Given the description of an element on the screen output the (x, y) to click on. 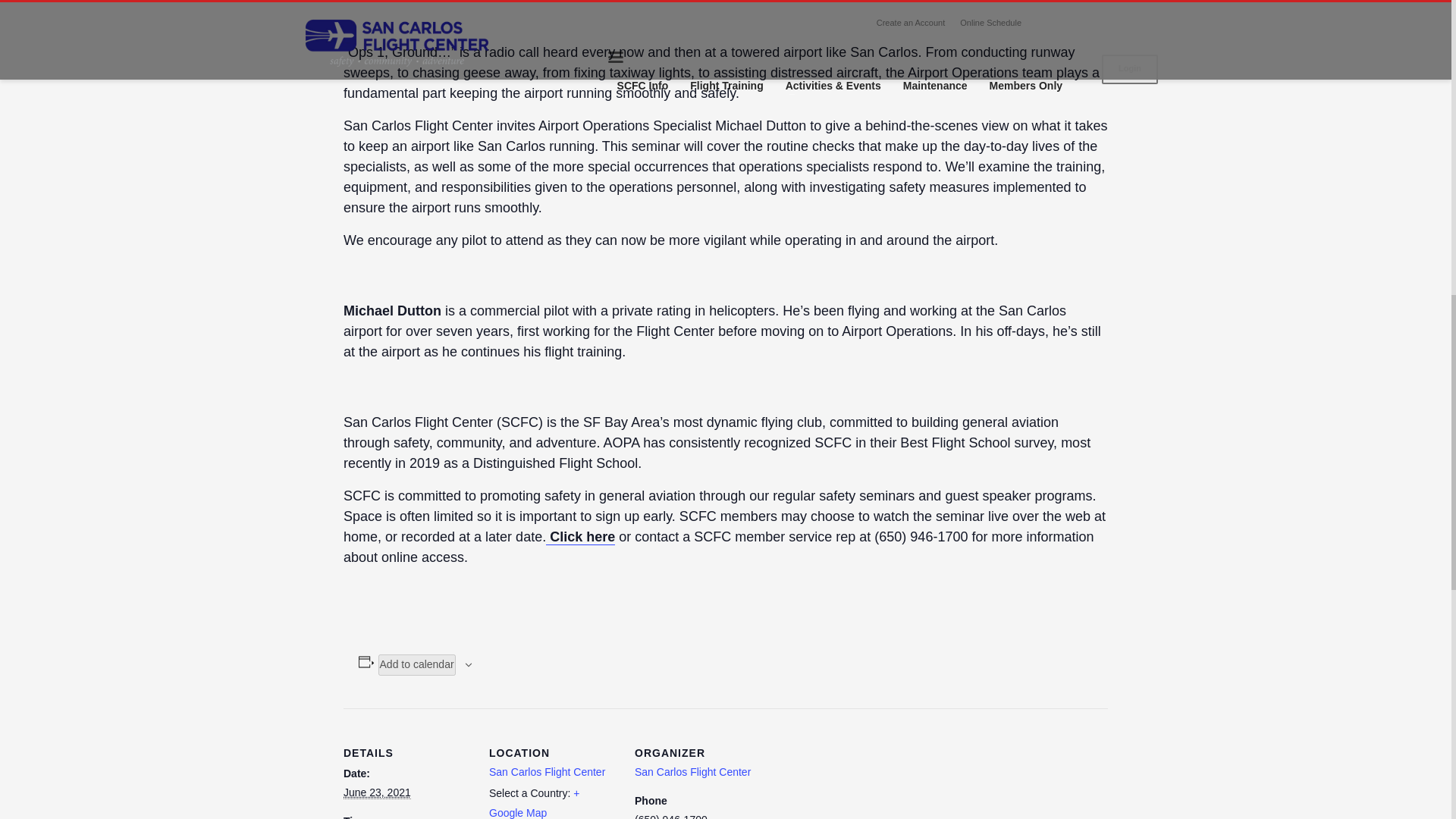
San Carlos Flight Center (692, 771)
2021-06-23 (376, 792)
Click to view a Google Map (534, 803)
